Given the description of an element on the screen output the (x, y) to click on. 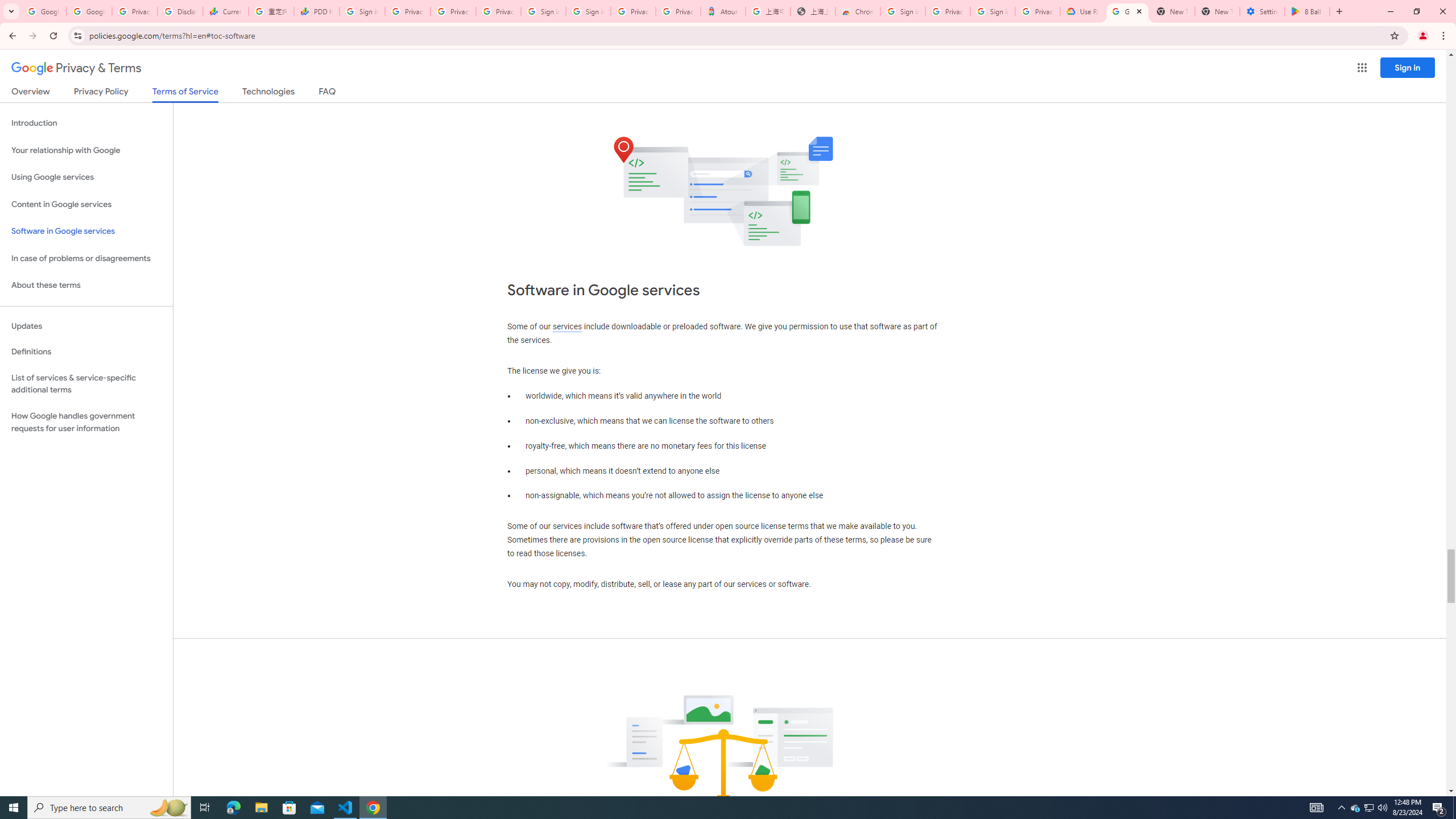
Currencies - Google Finance (225, 11)
Sign in - Google Accounts (992, 11)
Settings - System (1262, 11)
In case of problems or disagreements (86, 258)
How Google handles government requests for user information (86, 422)
Privacy Checkup (497, 11)
New Tab (1216, 11)
